Given the description of an element on the screen output the (x, y) to click on. 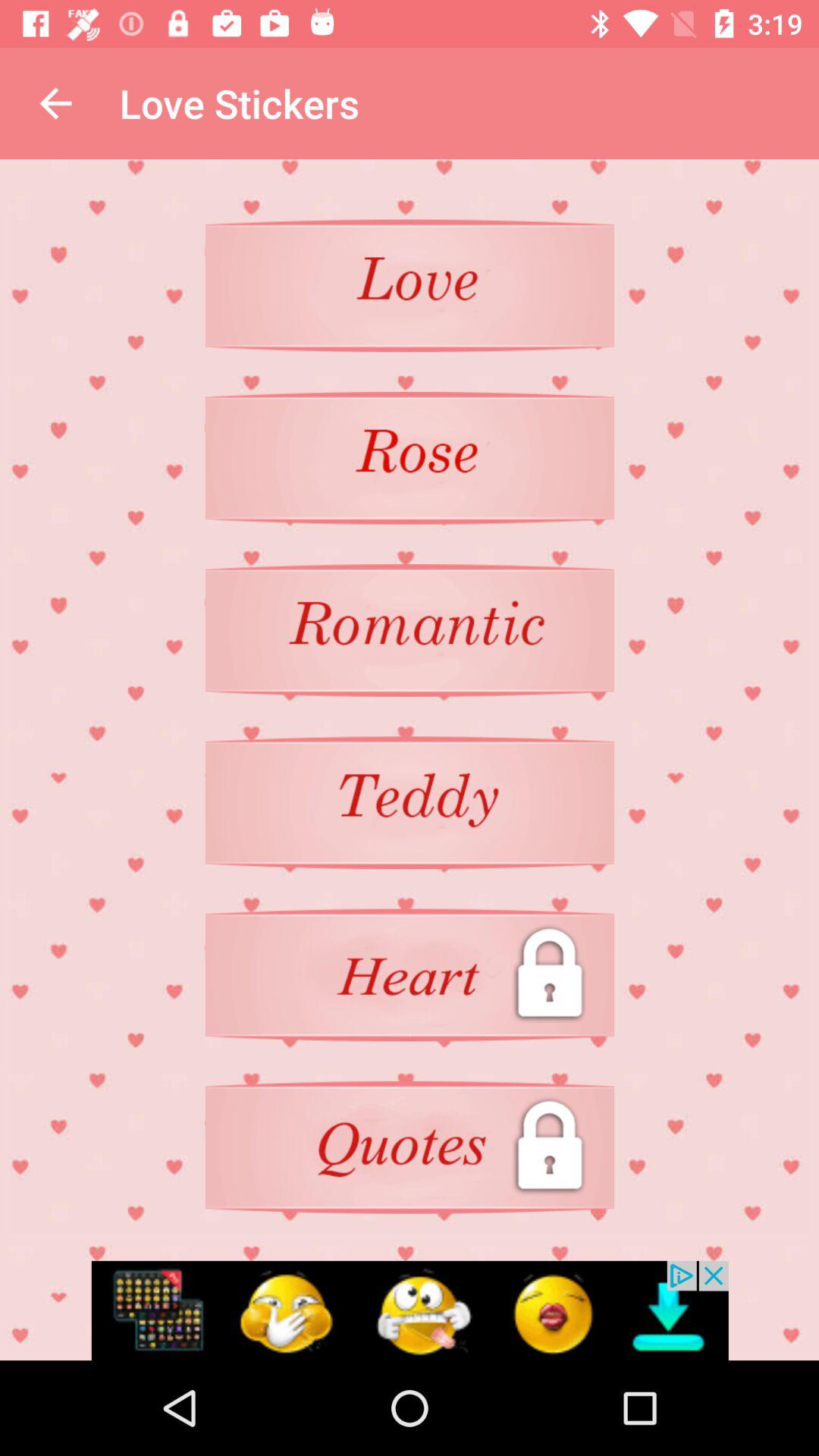
love sticker romantic button (409, 630)
